Given the description of an element on the screen output the (x, y) to click on. 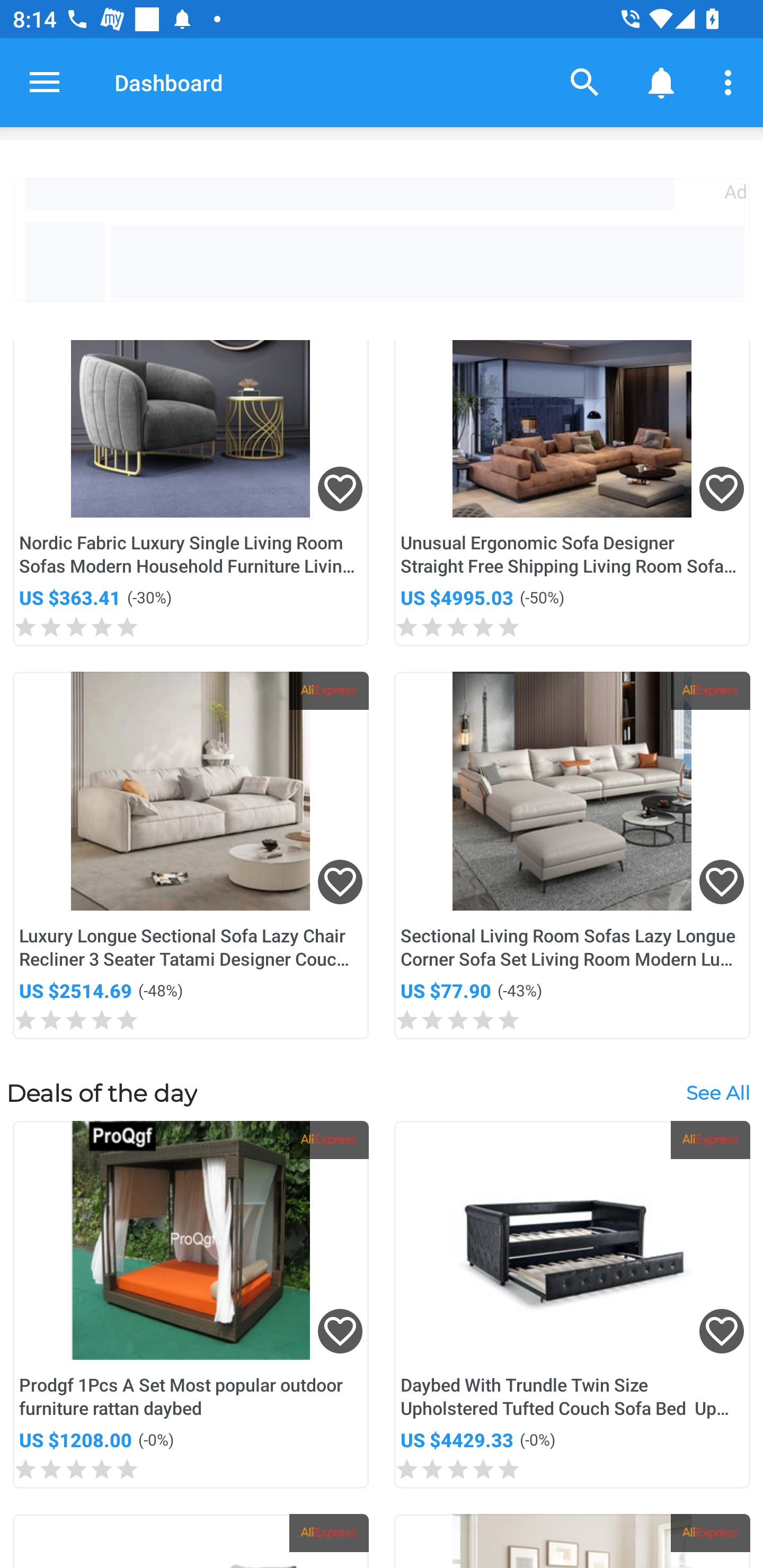
Open navigation drawer (44, 82)
Search (585, 81)
More options (731, 81)
See All (717, 1092)
